Given the description of an element on the screen output the (x, y) to click on. 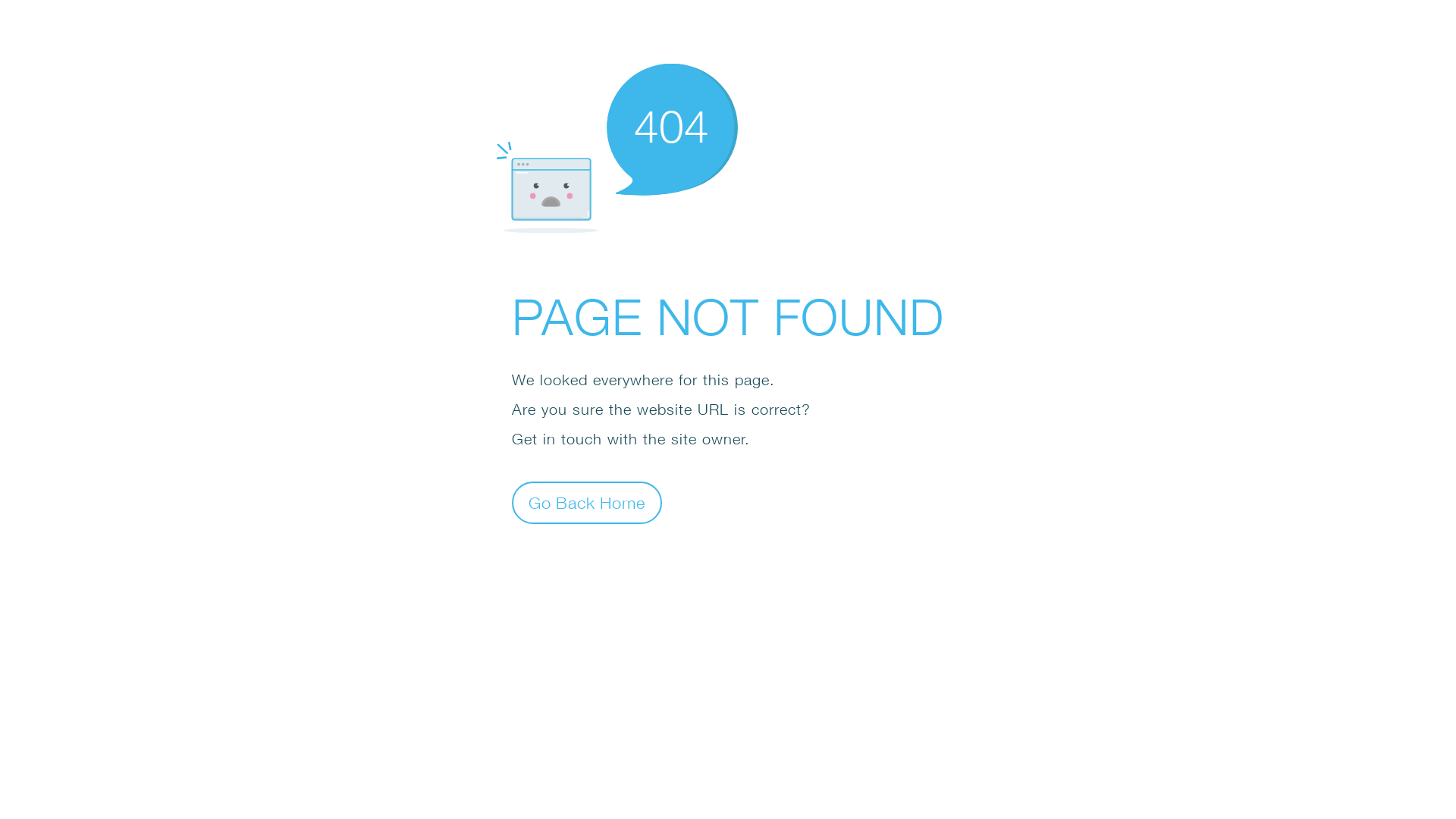
Go Back Home Element type: text (586, 502)
